Given the description of an element on the screen output the (x, y) to click on. 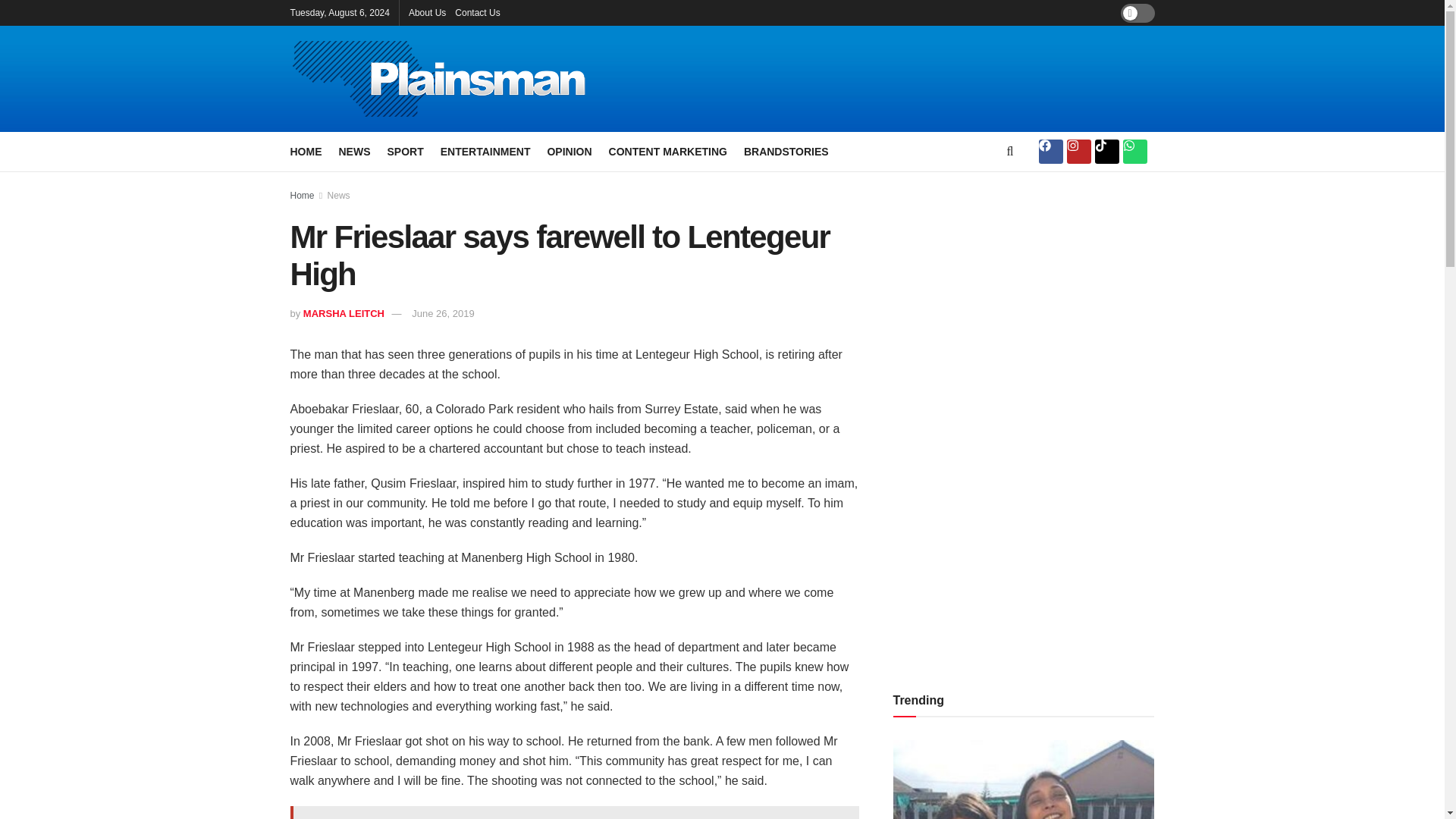
MARSHA LEITCH (343, 313)
HOME (305, 151)
CONTENT MARKETING (667, 151)
READ  Witnesses to Isiqalo shootings sought (574, 812)
News (338, 195)
Contact Us (476, 12)
NEWS (353, 151)
Home (301, 195)
ENTERTAINMENT (486, 151)
3rd party ad content (888, 79)
OPINION (569, 151)
BRANDSTORIES (786, 151)
SPORT (405, 151)
About Us (427, 12)
June 26, 2019 (443, 313)
